Given the description of an element on the screen output the (x, y) to click on. 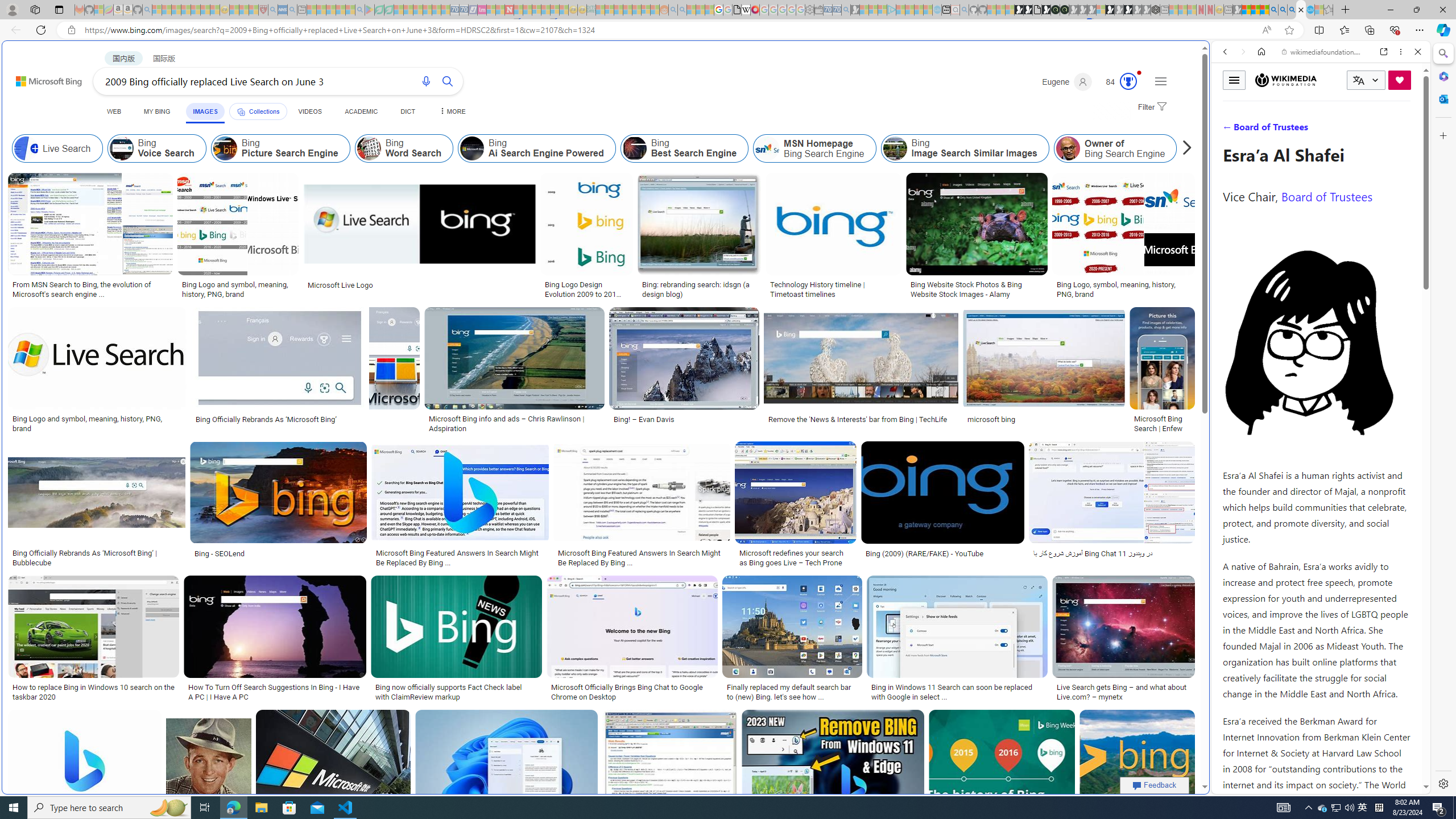
Bing - SEOLend (219, 552)
Scroll right (1183, 148)
DICT (407, 111)
Bing - SEOLendSave (280, 505)
Technology History timeline | Timetoast timelines (833, 289)
